Given the description of an element on the screen output the (x, y) to click on. 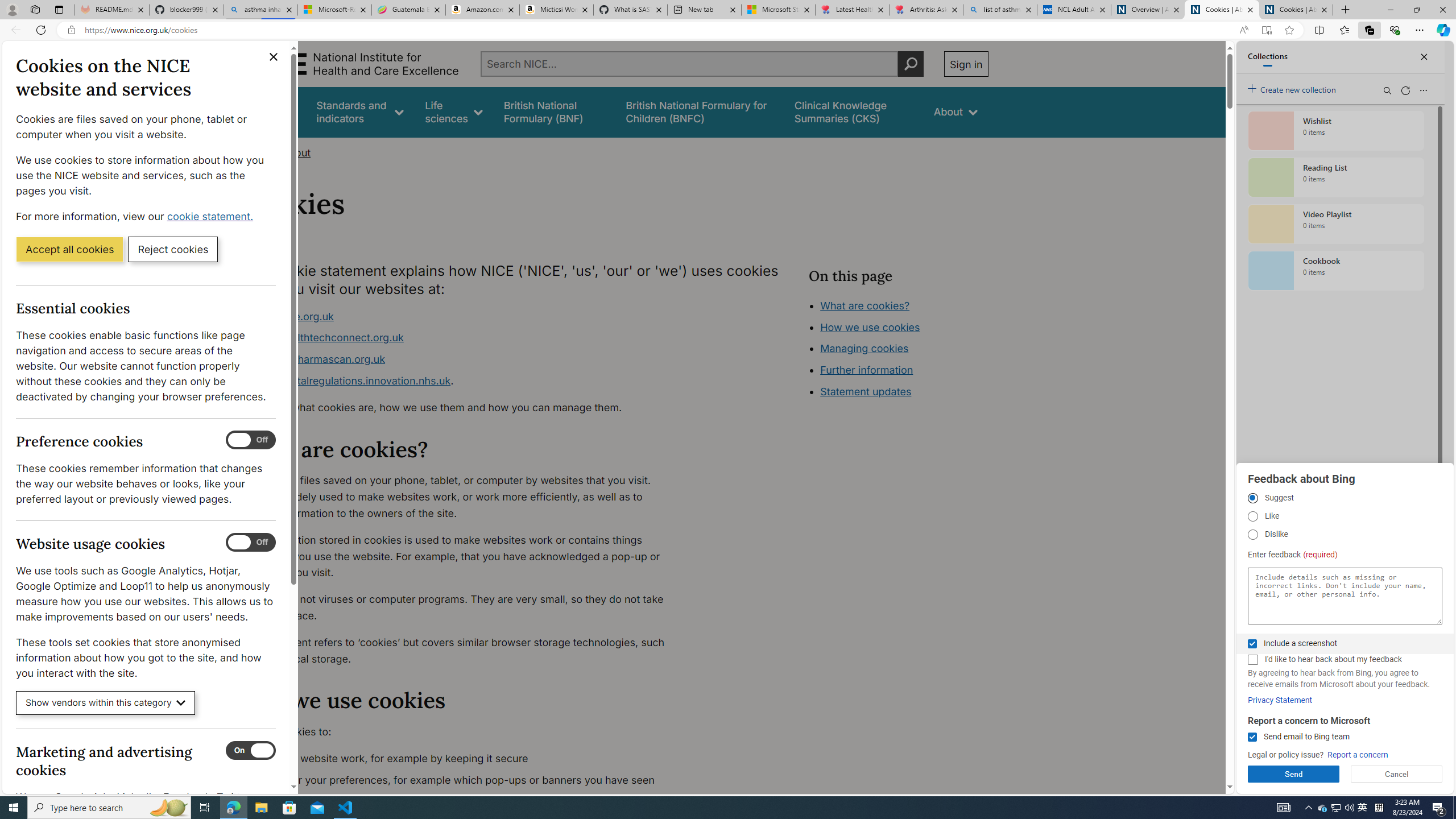
www.healthtechconnect.org.uk (464, 338)
Send (1293, 773)
www.nice.org.uk (292, 315)
www.ukpharmascan.org.uk (318, 359)
Statement updates (865, 391)
www.nice.org.uk (464, 316)
Show vendors within this category (105, 703)
Preference cookies (250, 439)
Cookies | About | NICE (1295, 9)
